Given the description of an element on the screen output the (x, y) to click on. 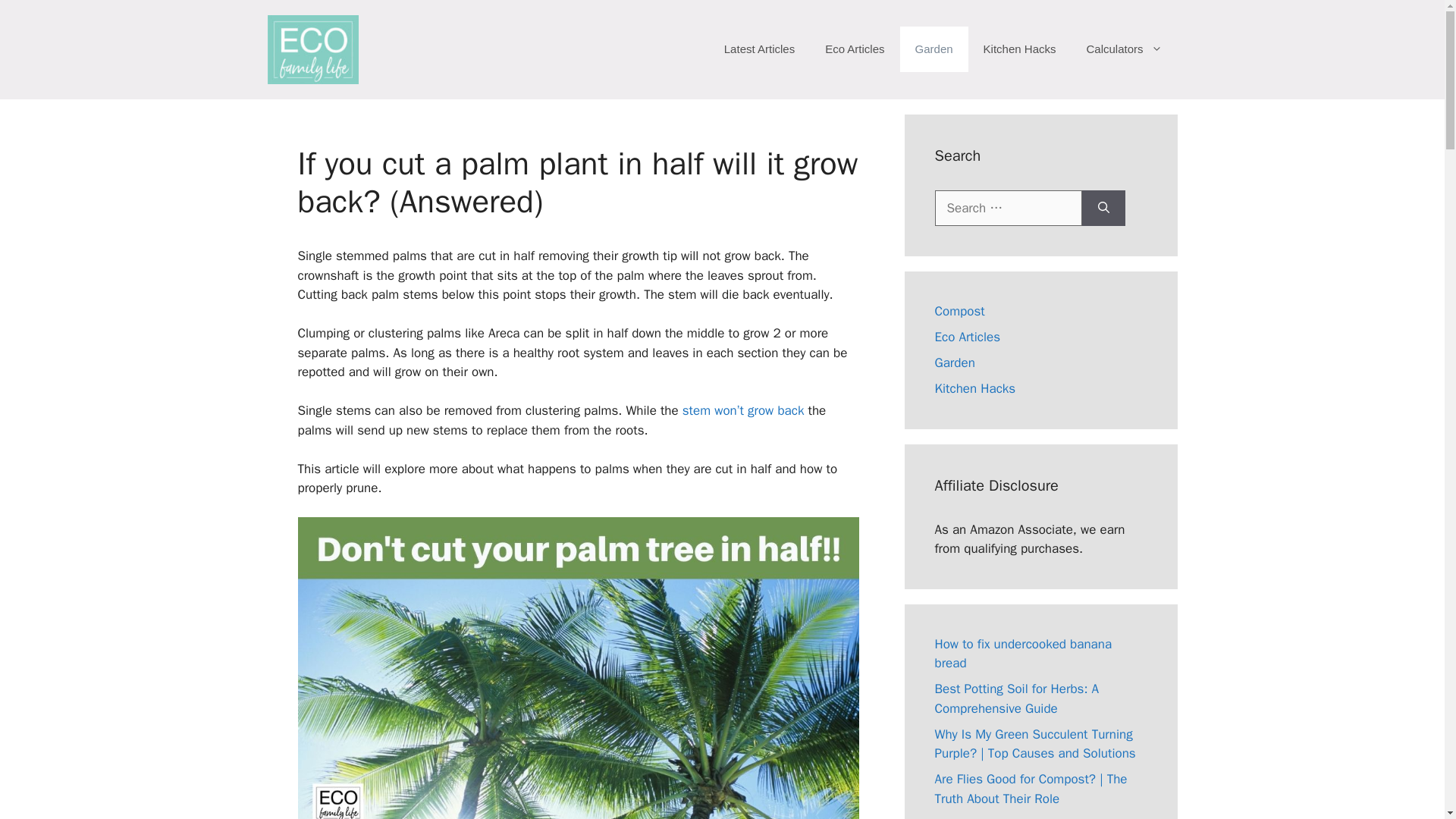
Kitchen Hacks (1019, 49)
Latest Articles (759, 49)
Garden (933, 49)
Best Potting Soil for Herbs: A Comprehensive Guide (1016, 698)
Kitchen Hacks (974, 388)
Search for: (1007, 208)
Calculators (1123, 49)
Garden (954, 362)
How to fix undercooked banana bread (1023, 653)
Eco Articles (967, 336)
Eco Articles (854, 49)
Compost (959, 311)
